Given the description of an element on the screen output the (x, y) to click on. 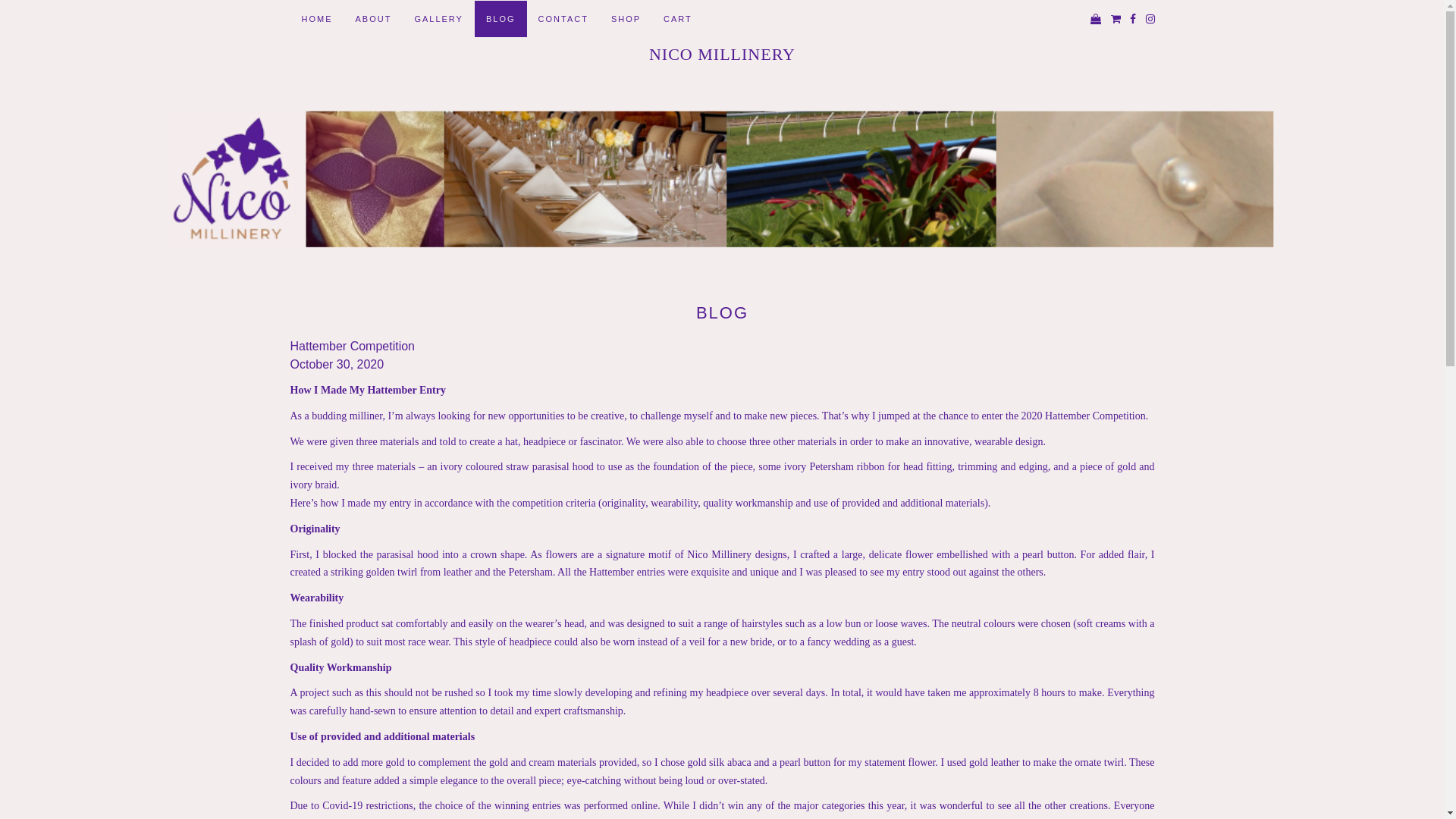
ABOUT Element type: text (373, 18)
HOME Element type: text (316, 18)
CONTACT Element type: text (563, 18)
BLOG Element type: text (500, 18)
CART Element type: text (677, 18)
NICO MILLINERY Element type: text (722, 52)
GALLERY Element type: text (438, 18)
SHOP Element type: text (625, 18)
